Given the description of an element on the screen output the (x, y) to click on. 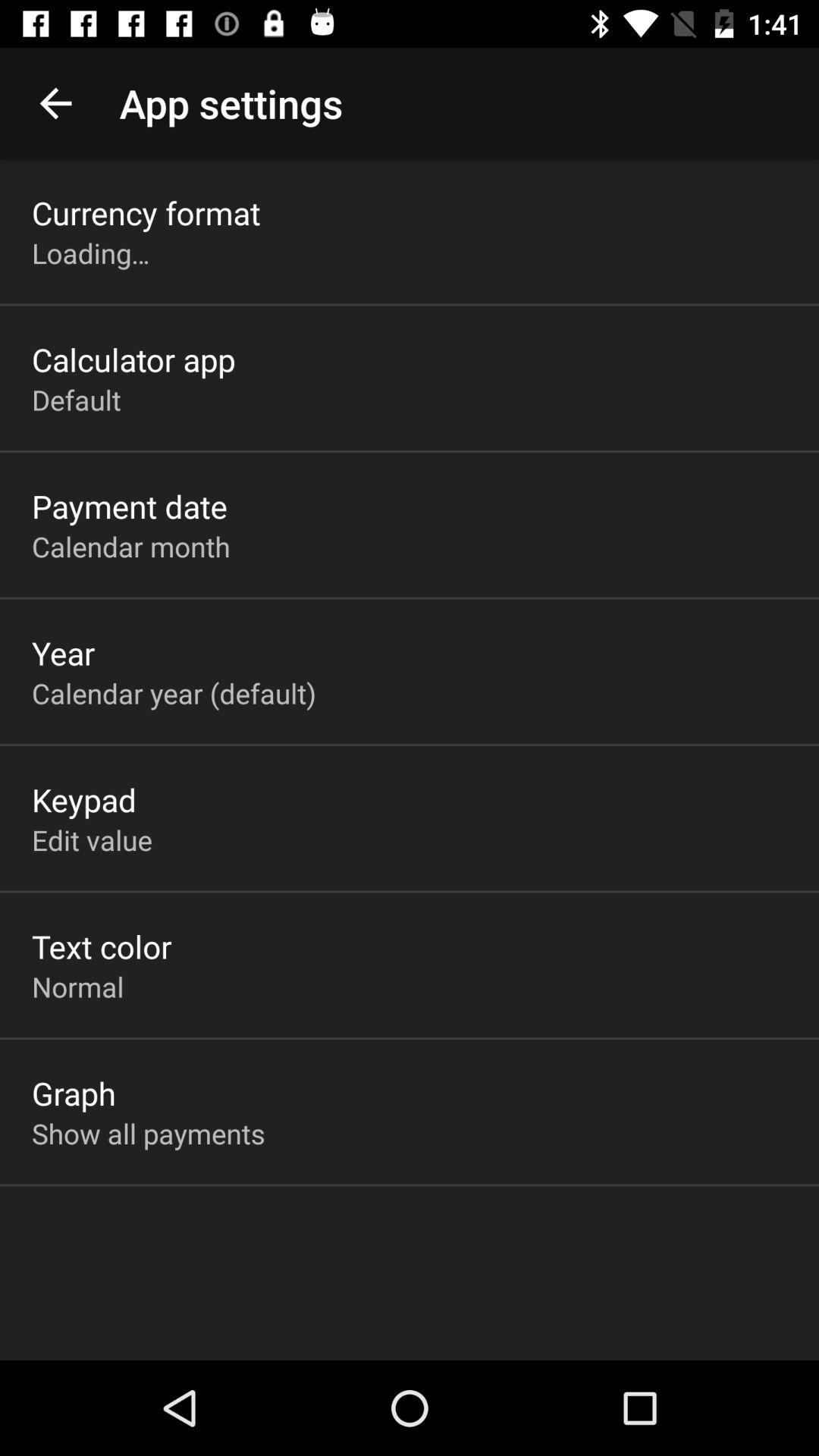
choose payment date icon (129, 505)
